Given the description of an element on the screen output the (x, y) to click on. 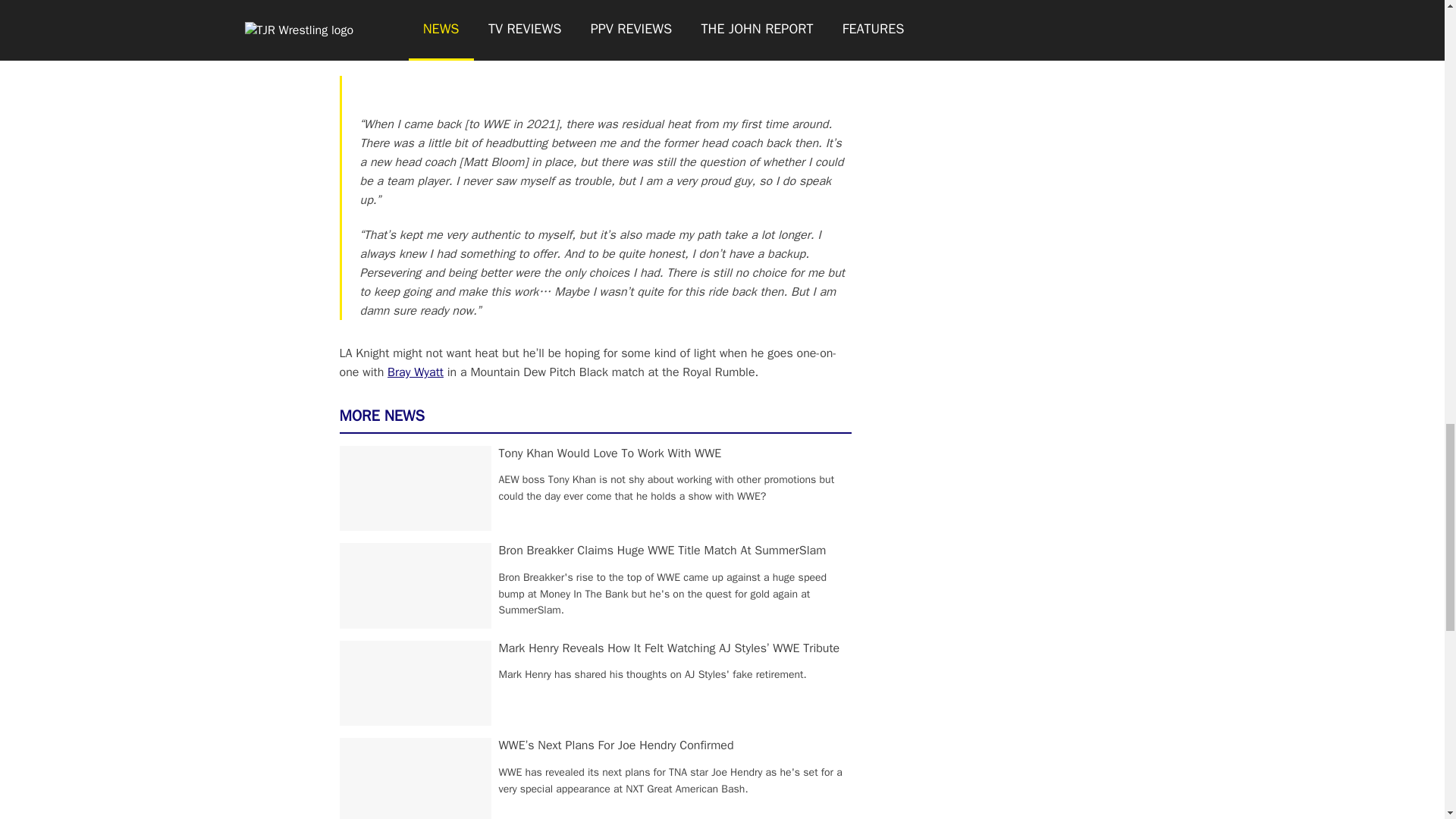
Tony Khan Would Love To Work With WWE (610, 453)
Bron Breakker Claims Huge WWE Title Match At SummerSlam (663, 549)
Bray Wyatt (415, 372)
